Given the description of an element on the screen output the (x, y) to click on. 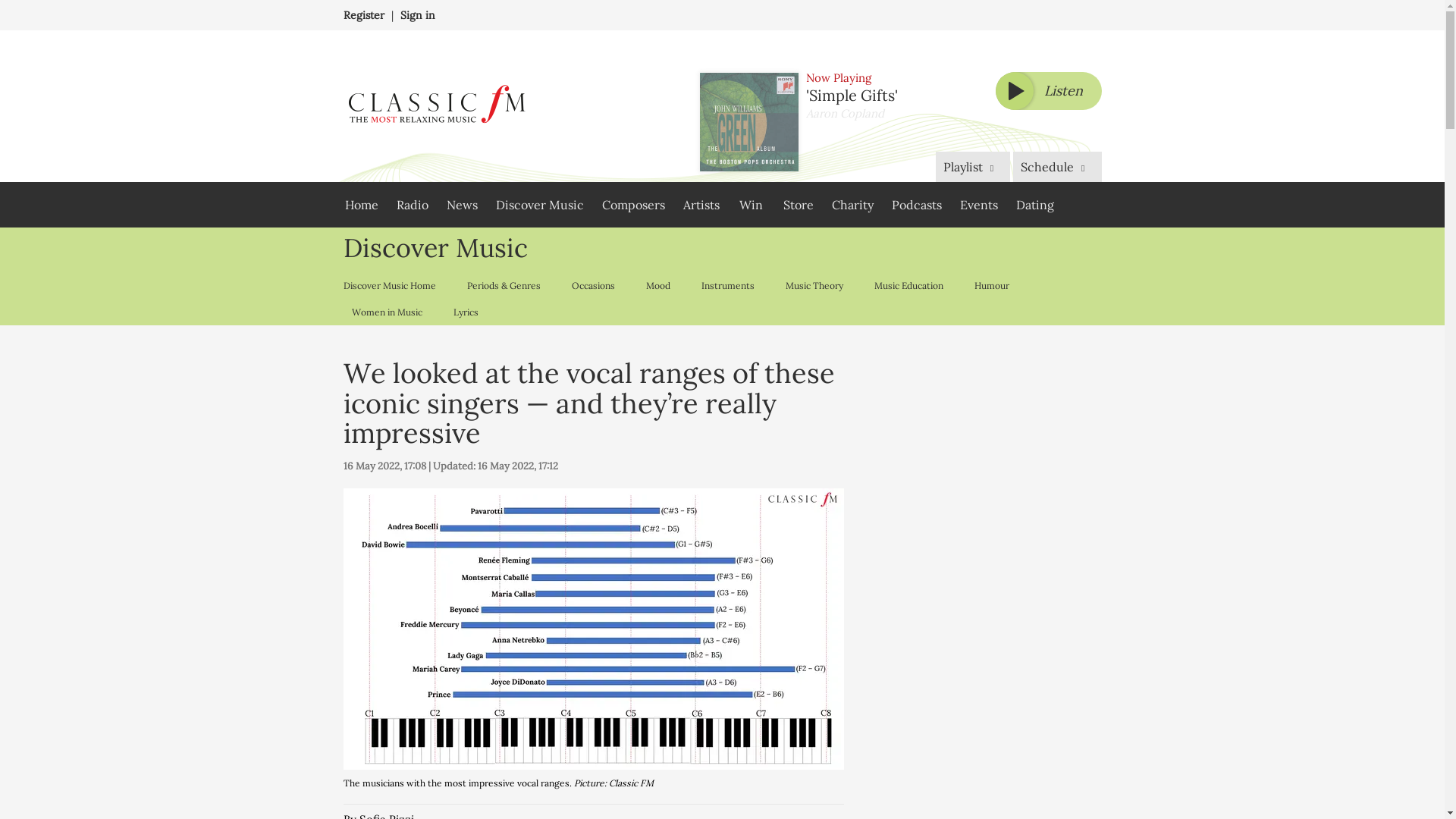
Occasions (591, 285)
Podcasts (916, 204)
Sign in (417, 15)
Listen (1047, 90)
News (461, 204)
Women in Music (385, 311)
Humour (991, 285)
Win (750, 204)
Store (797, 204)
Music Education (908, 285)
